Given the description of an element on the screen output the (x, y) to click on. 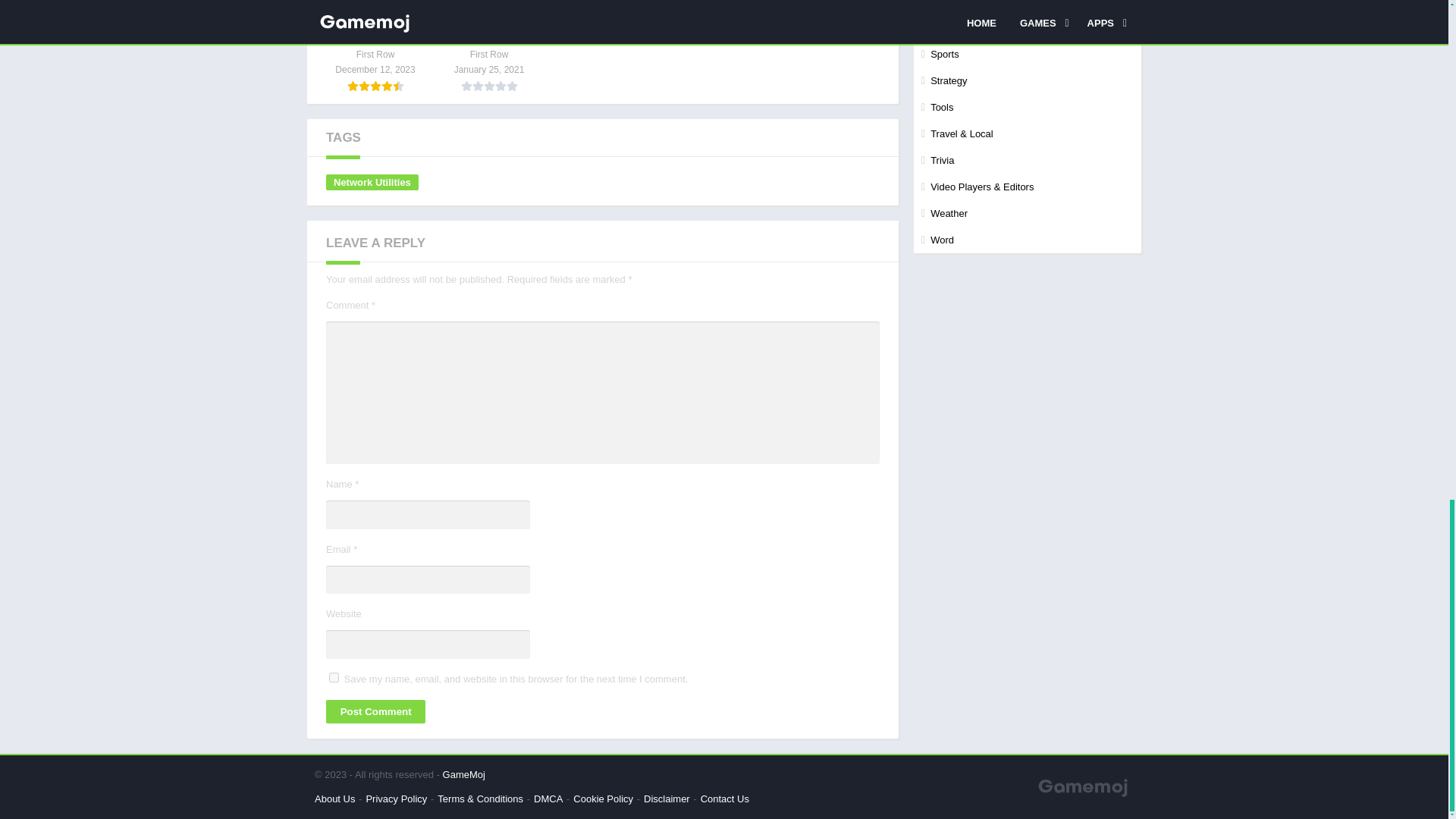
yes (334, 677)
Post Comment (375, 711)
